Given the description of an element on the screen output the (x, y) to click on. 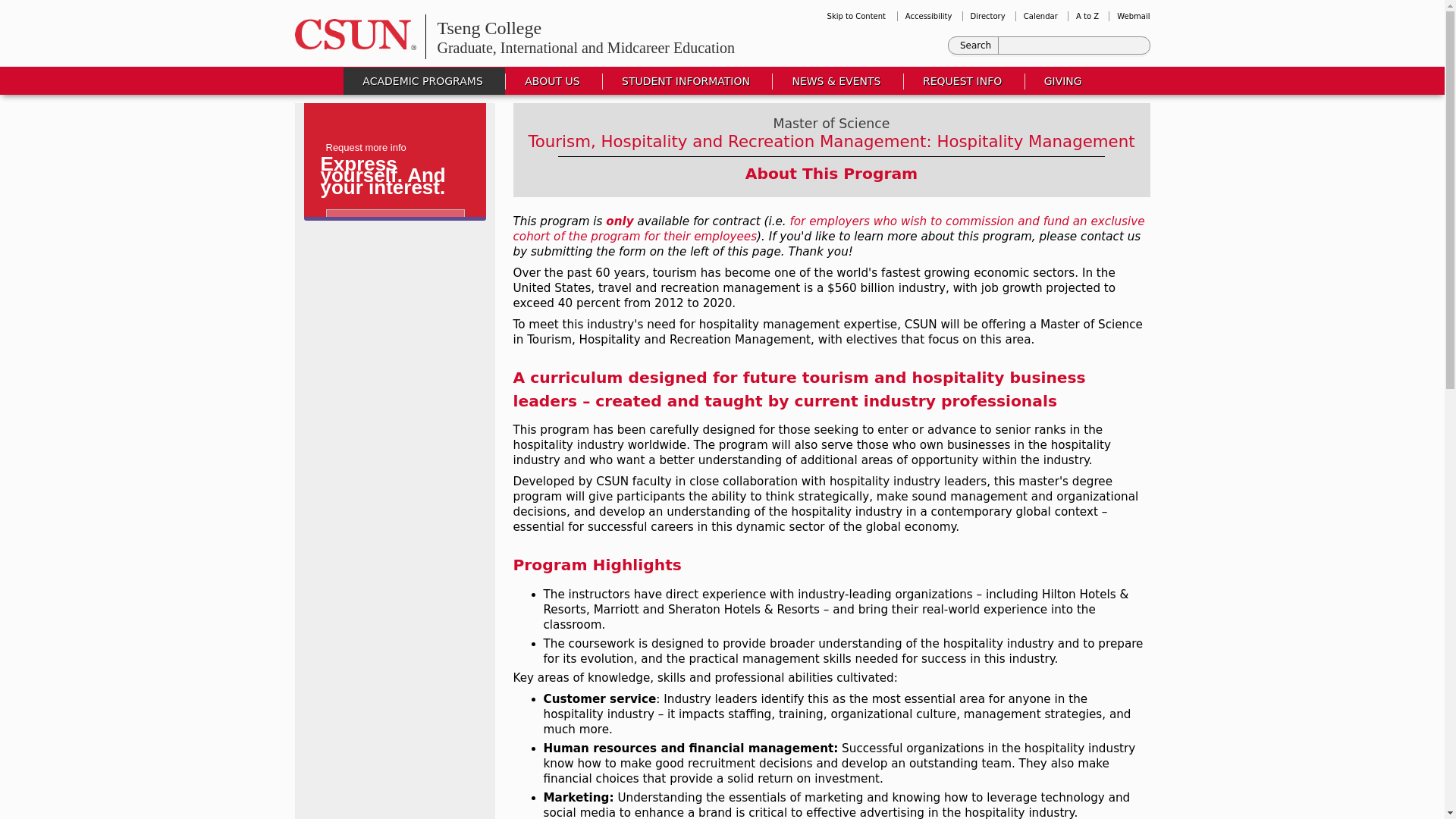
A to Z (1087, 16)
Calendar (1040, 16)
California State University, Northridge (355, 33)
Skip to Content (856, 16)
Accessibility (928, 16)
Search (975, 45)
Directory (988, 16)
Search (975, 45)
Webmail (1133, 16)
